Given the description of an element on the screen output the (x, y) to click on. 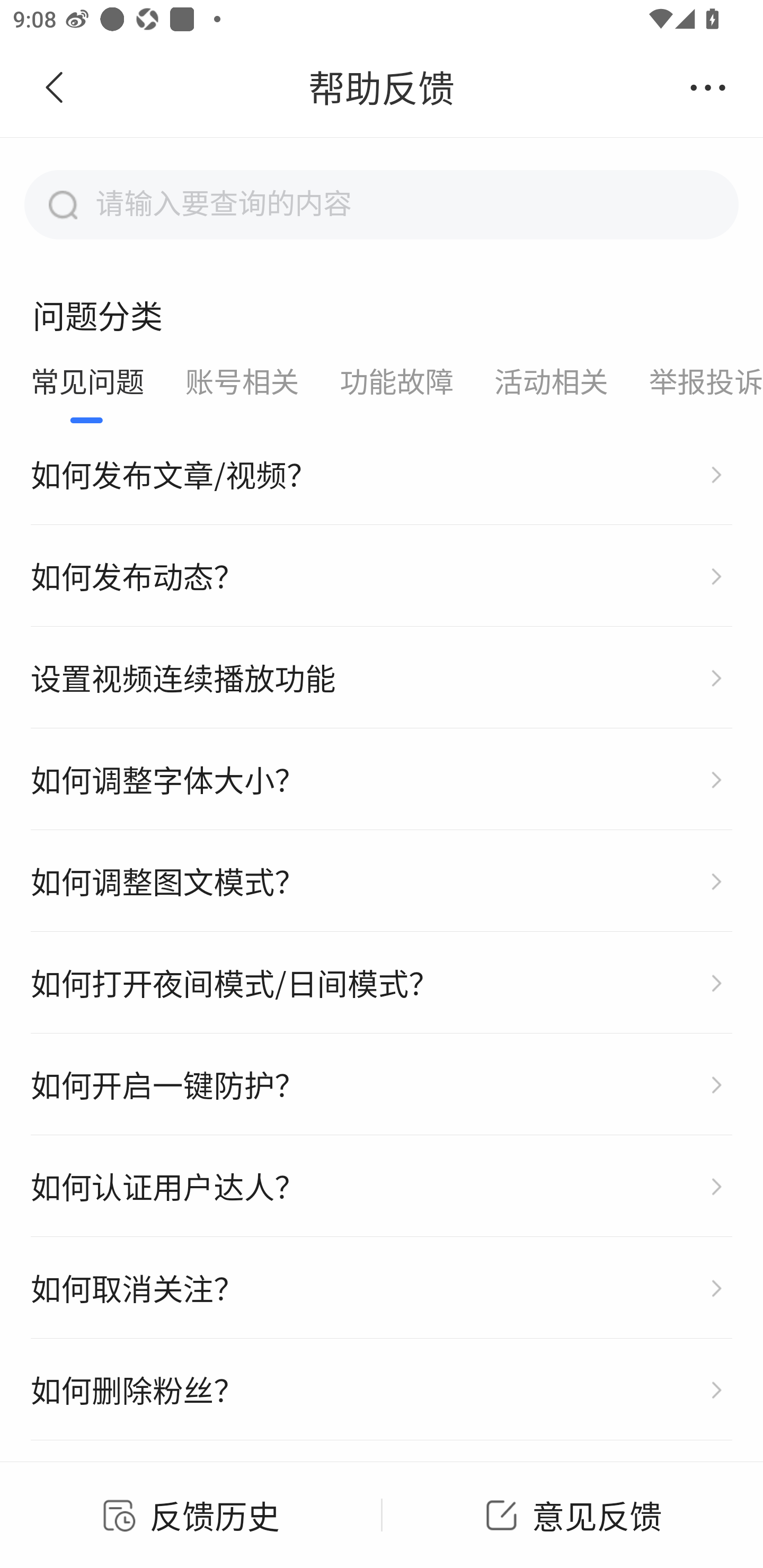
 返回 (54, 87)
 更多 (707, 87)
帮助反馈 (381, 88)
常见问题 (87, 383)
账号相关 (241, 383)
功能故障 (396, 383)
活动相关 (551, 383)
举报投诉 (695, 383)
反馈历史 (191, 1514)
意见反馈 (572, 1514)
